Given the description of an element on the screen output the (x, y) to click on. 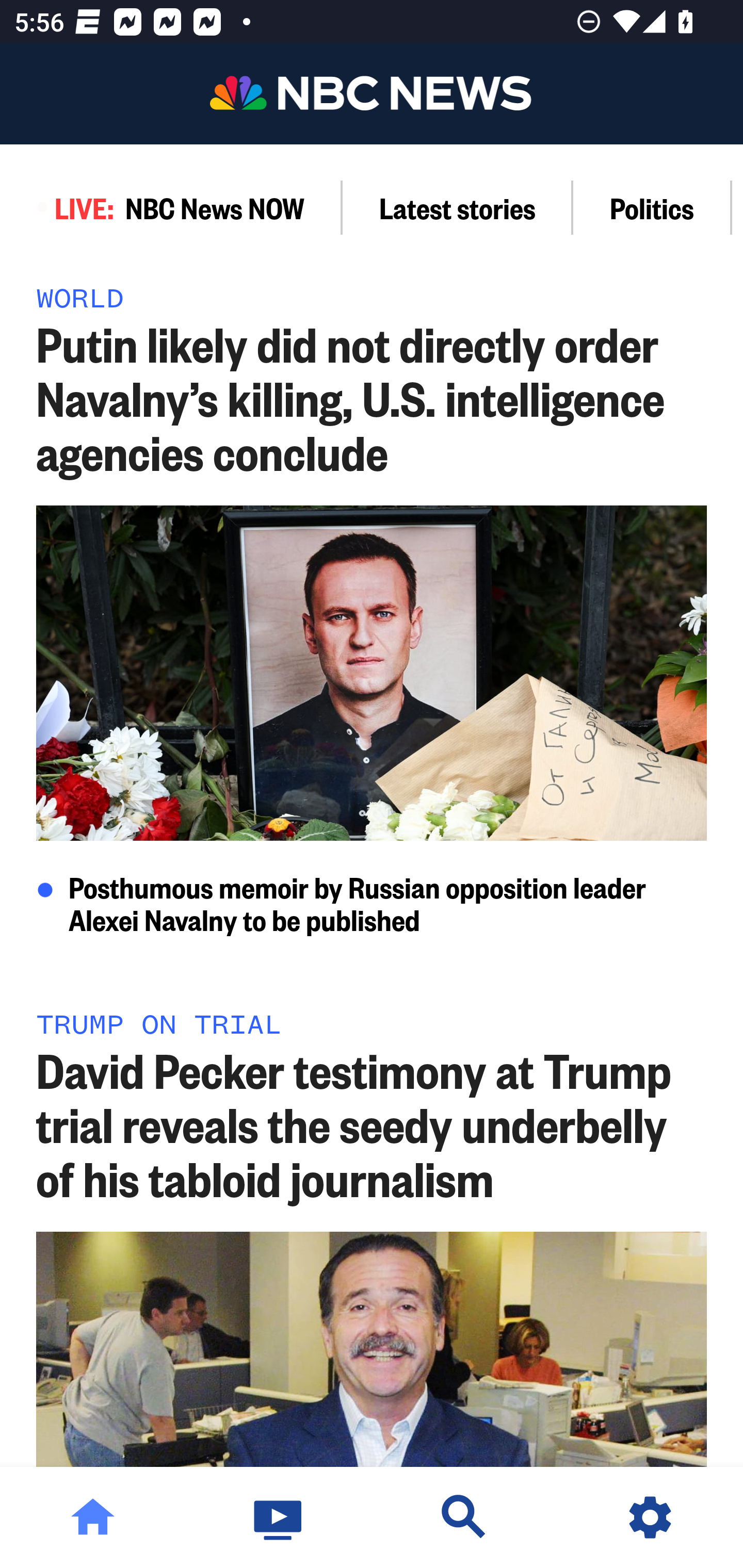
LIVE:  NBC News NOW (171, 207)
Latest stories Section,Latest stories (457, 207)
Politics Section,Politics (652, 207)
Watch (278, 1517)
Discover (464, 1517)
Settings (650, 1517)
